Given the description of an element on the screen output the (x, y) to click on. 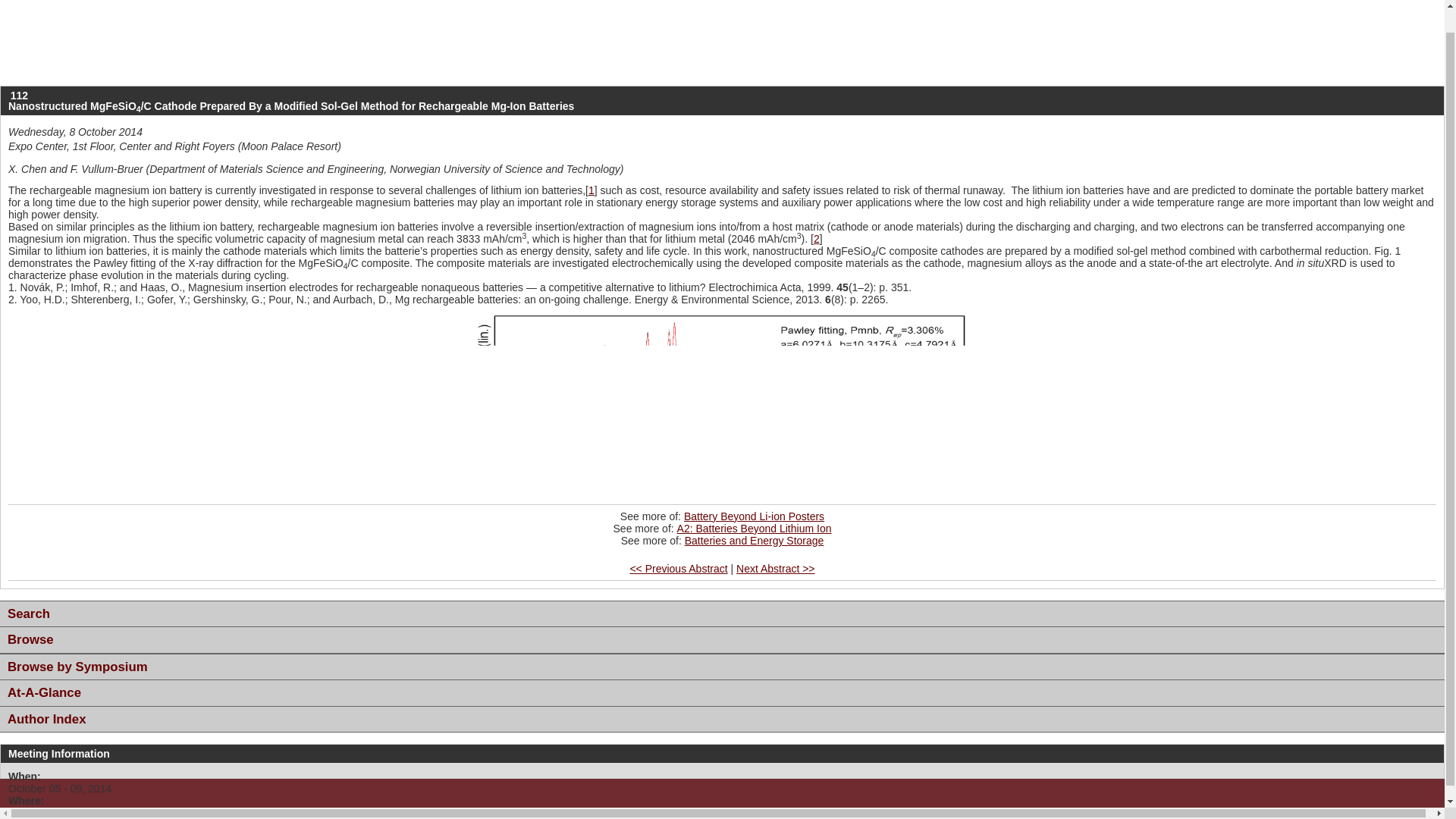
A2: Batteries Beyond Lithium Ion (754, 528)
Browse (722, 639)
At-A-Glance (722, 692)
Battery Beyond Li-ion Posters (754, 516)
Browse by Symposium (722, 667)
Batteries and Energy Storage (754, 540)
Author Index (722, 719)
Search (722, 614)
